Given the description of an element on the screen output the (x, y) to click on. 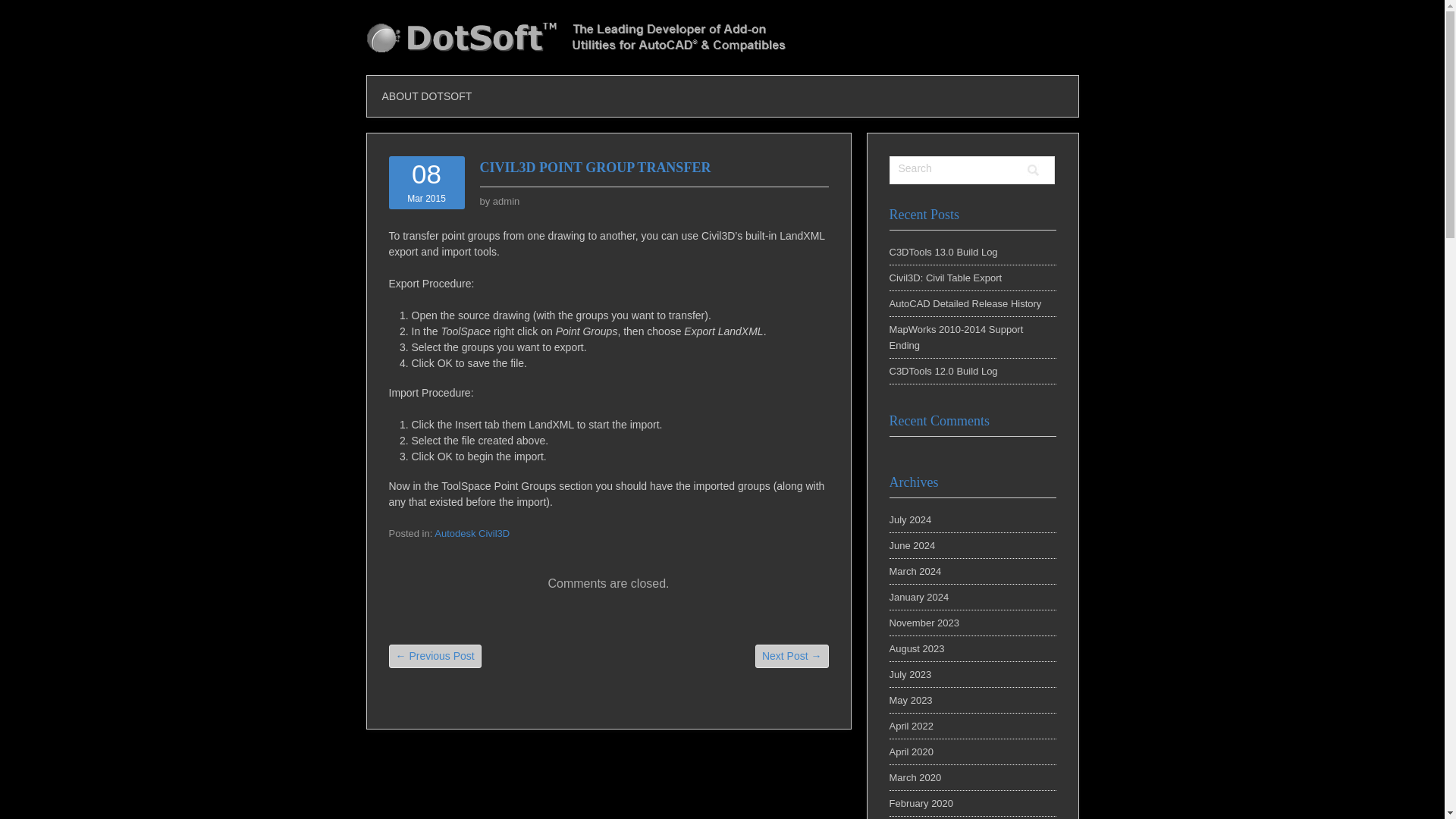
ABOUT DOTSOFT (426, 96)
July 2024 (909, 519)
April 2020 (910, 751)
C3DTools 12.0 Build Log (942, 370)
C3DTools 13.0 Build Log (942, 251)
Search (1032, 170)
June 2024 (911, 545)
Search (954, 168)
April 2022 (910, 726)
MapWorks 2010-2014 Support Ending (955, 337)
February 2020 (920, 803)
March 2024 (914, 571)
August 2023 (915, 648)
July 2023 (909, 674)
January 2024 (918, 596)
